Given the description of an element on the screen output the (x, y) to click on. 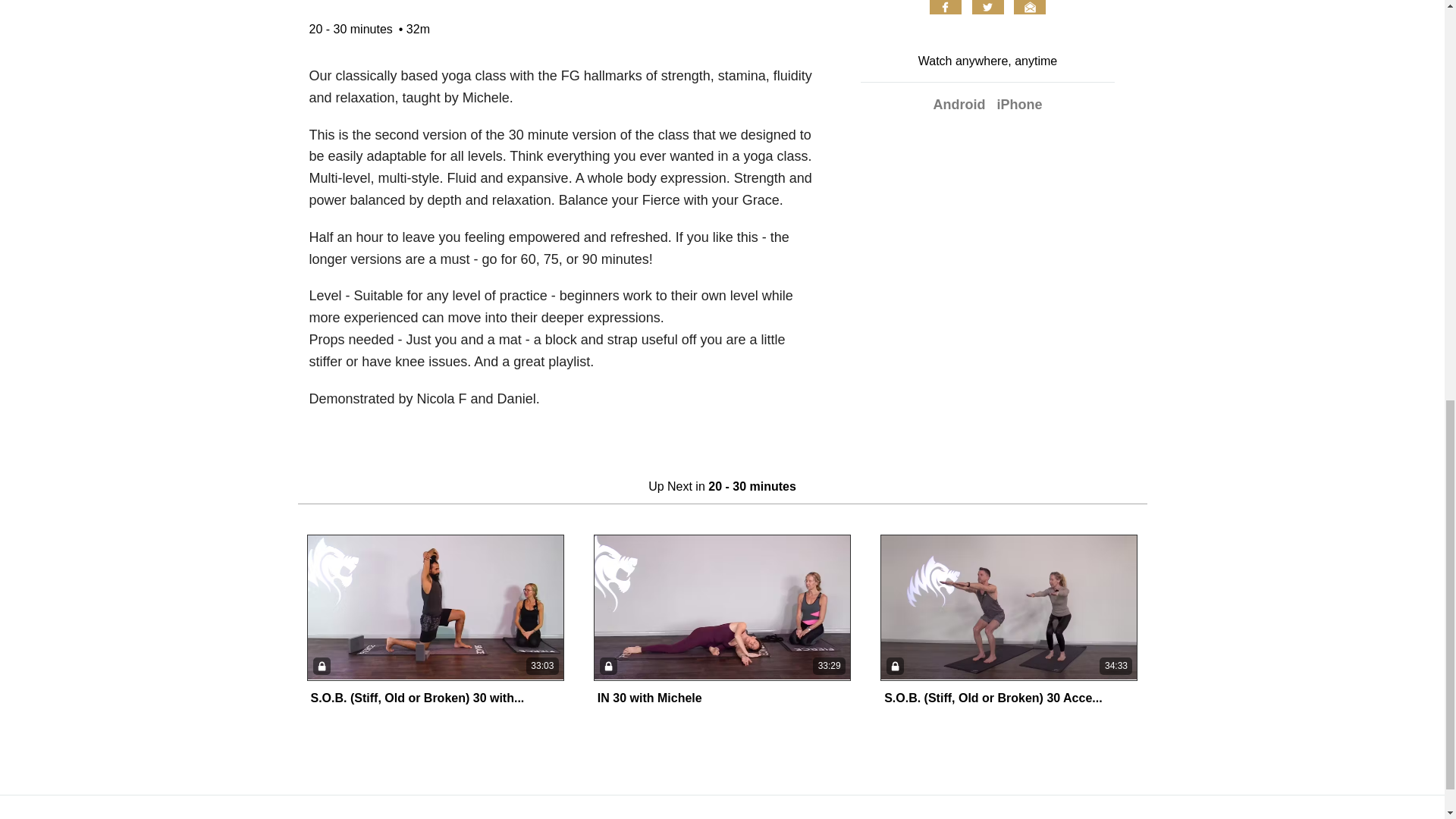
Terms (195, 817)
POWERED BY VIMEO (1352, 817)
Facebook (945, 7)
IN 30 with Michele (648, 697)
Android (958, 104)
Cookies (298, 817)
iPhone (1019, 104)
IN 30 with Michele (648, 697)
33:29 (722, 607)
Visit fiercegrace.com (72, 817)
34:33 (1008, 607)
20 - 30 minutes (751, 486)
Email (1029, 7)
20 - 30 minutes (350, 29)
Sign in (349, 817)
